Given the description of an element on the screen output the (x, y) to click on. 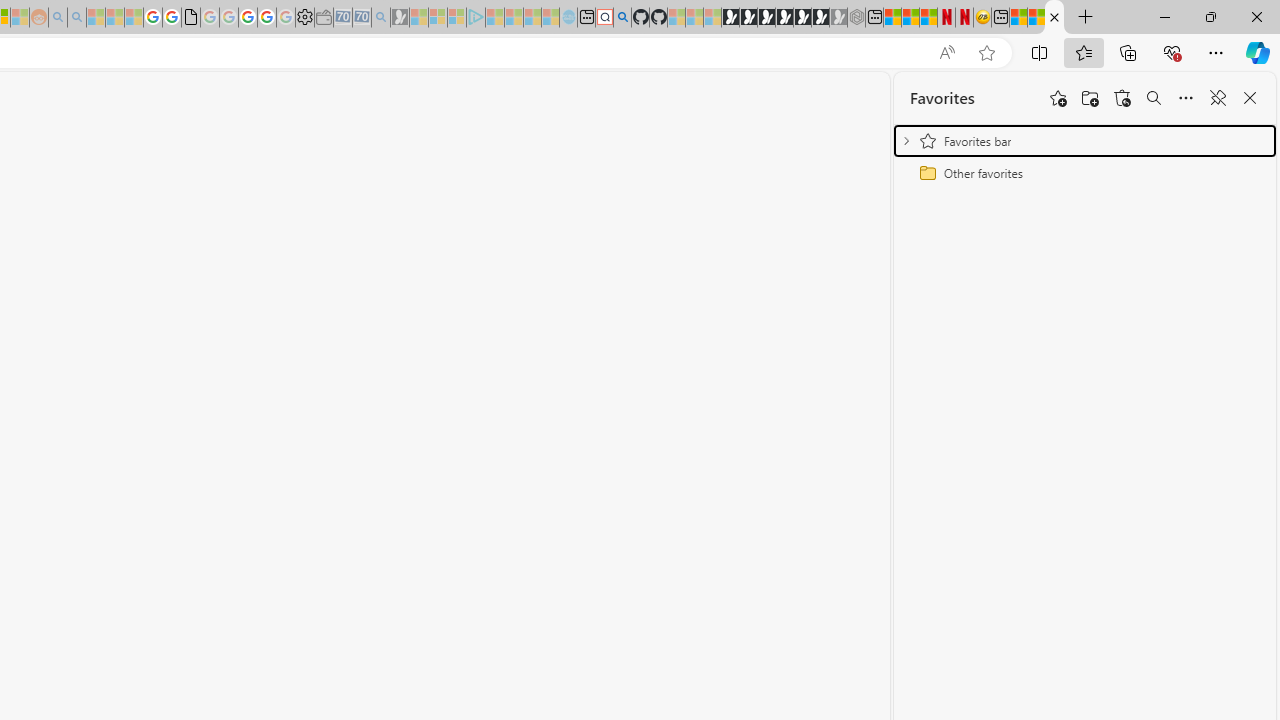
Add this page to favorites (1058, 98)
